Given the description of an element on the screen output the (x, y) to click on. 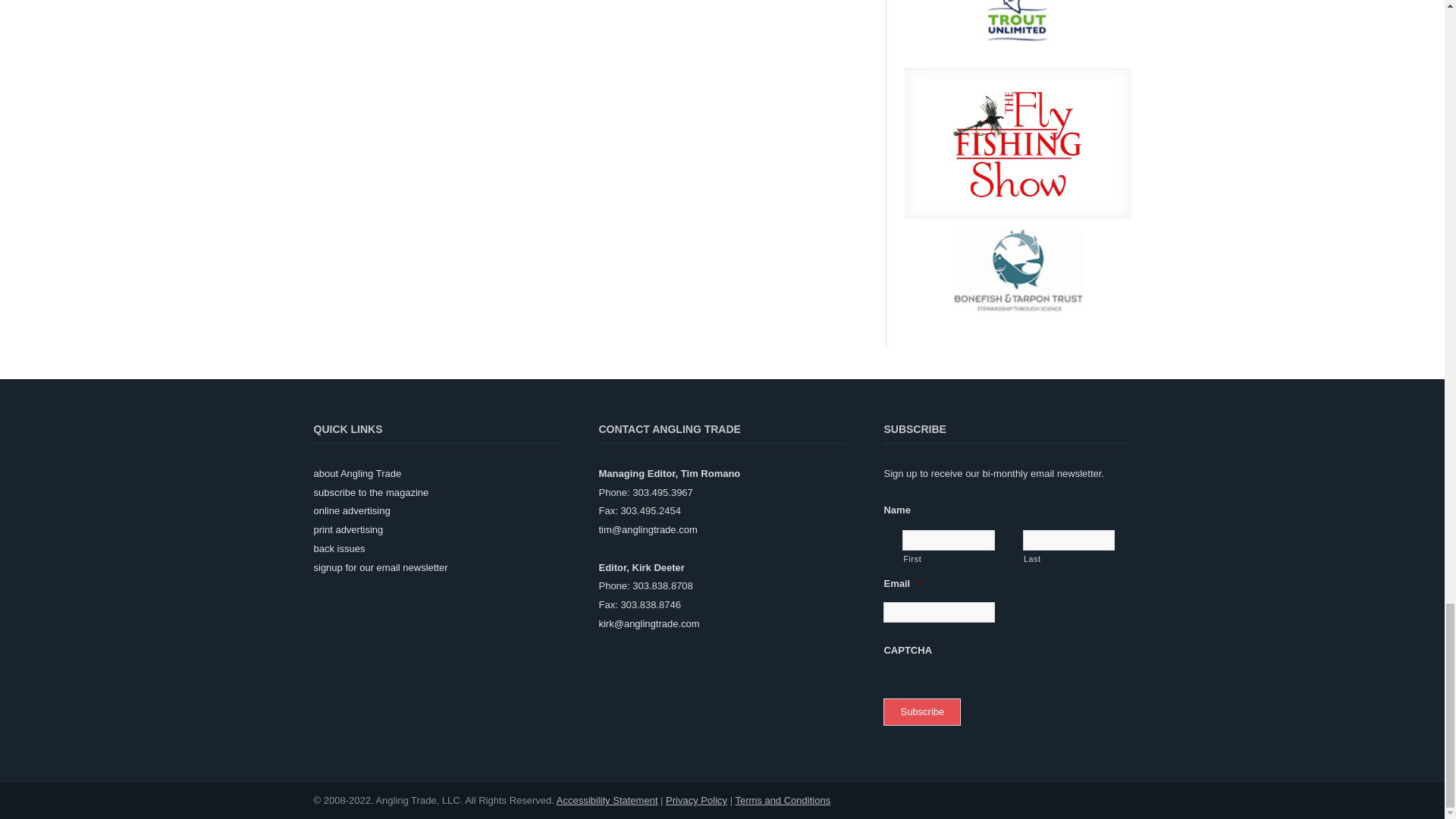
Subscribe (921, 712)
